Given the description of an element on the screen output the (x, y) to click on. 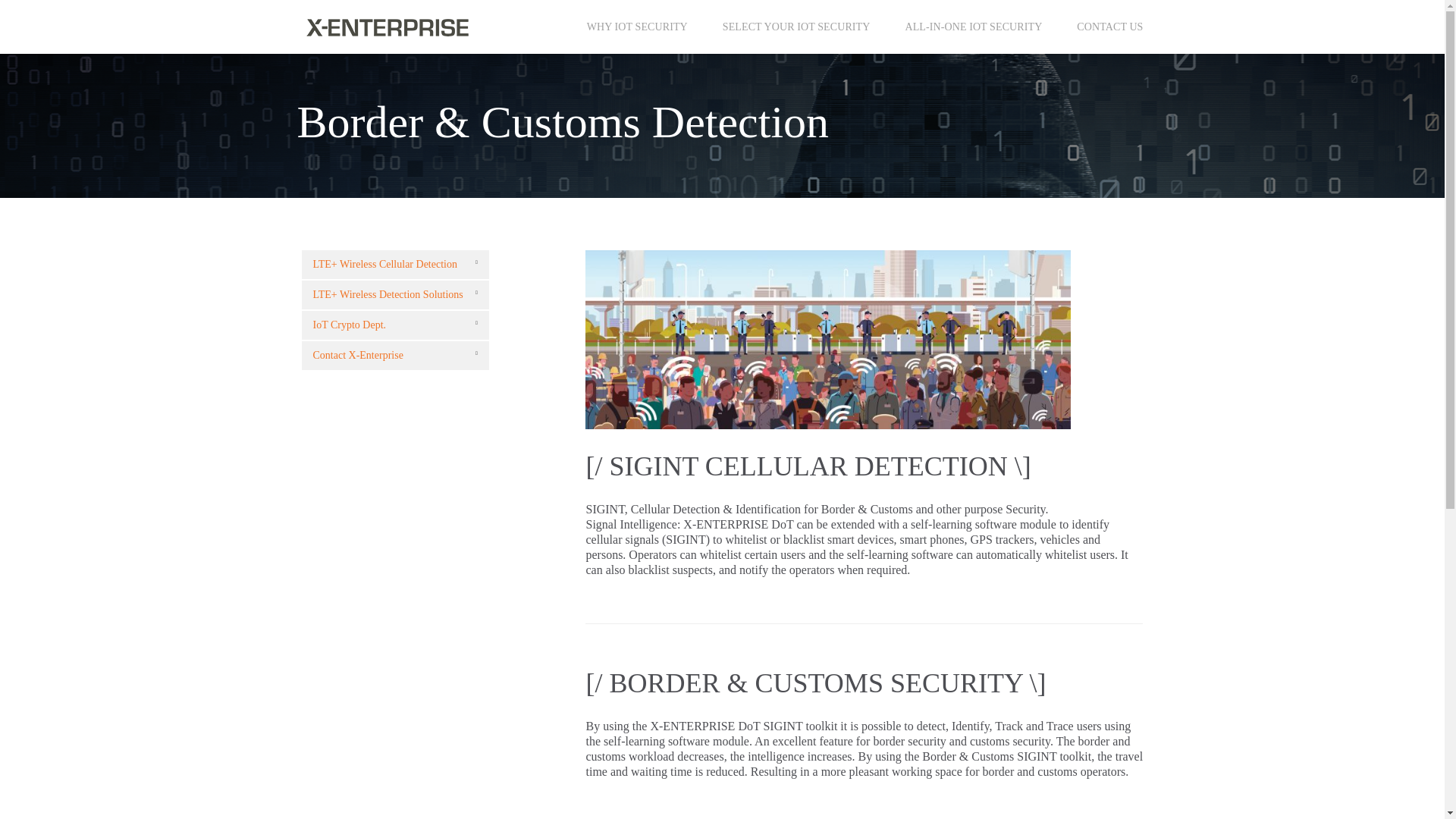
SELECT YOUR IOT SECURITY (796, 25)
IoT Crypto Dept. (395, 325)
CONTACT US (1109, 25)
WHY IOT SECURITY (636, 25)
ALL-IN-ONE IOT SECURITY (973, 25)
Contact X-Enterprise (395, 355)
